Given the description of an element on the screen output the (x, y) to click on. 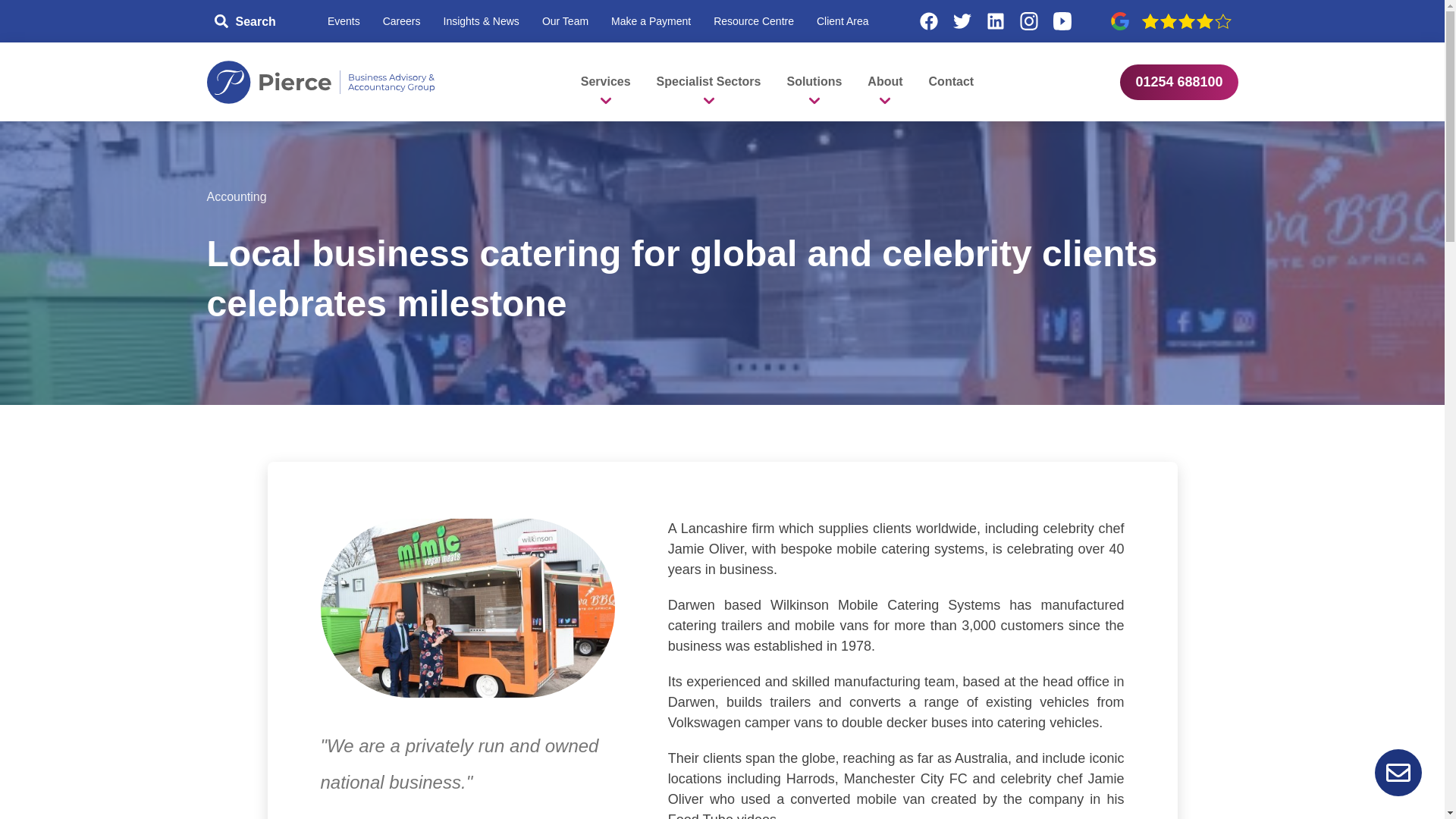
Send a Message (1398, 772)
Pierce on Twitter (962, 21)
Pierce on Linkedin (995, 21)
Pierce on Youtube (1062, 21)
Pierce on Instagram (1029, 21)
Pierce on Facebook (928, 21)
Search (246, 21)
